Given the description of an element on the screen output the (x, y) to click on. 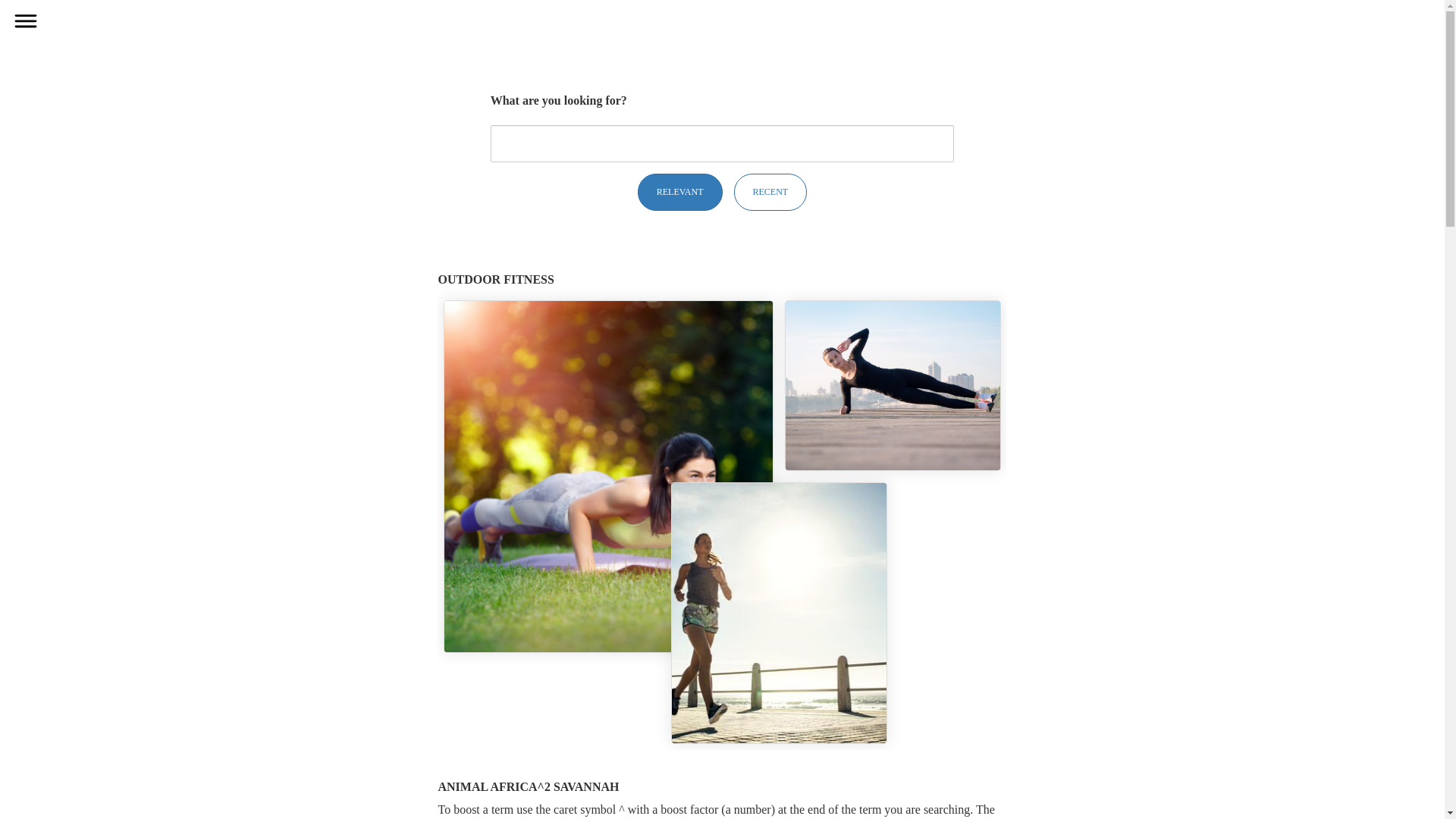
RELEVANT (679, 191)
RECENT (770, 191)
